Given the description of an element on the screen output the (x, y) to click on. 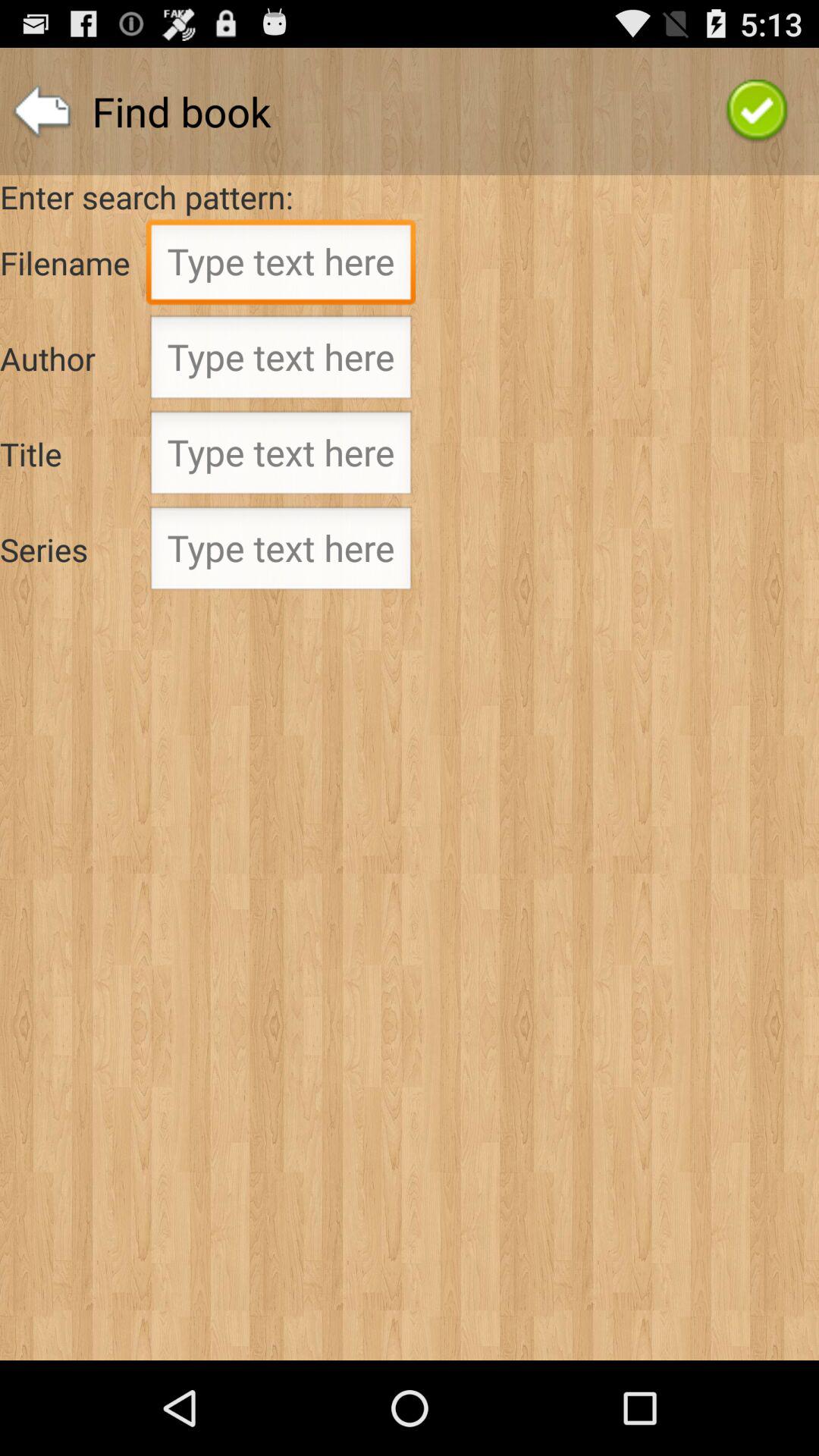
book search by series (280, 552)
